Given the description of an element on the screen output the (x, y) to click on. 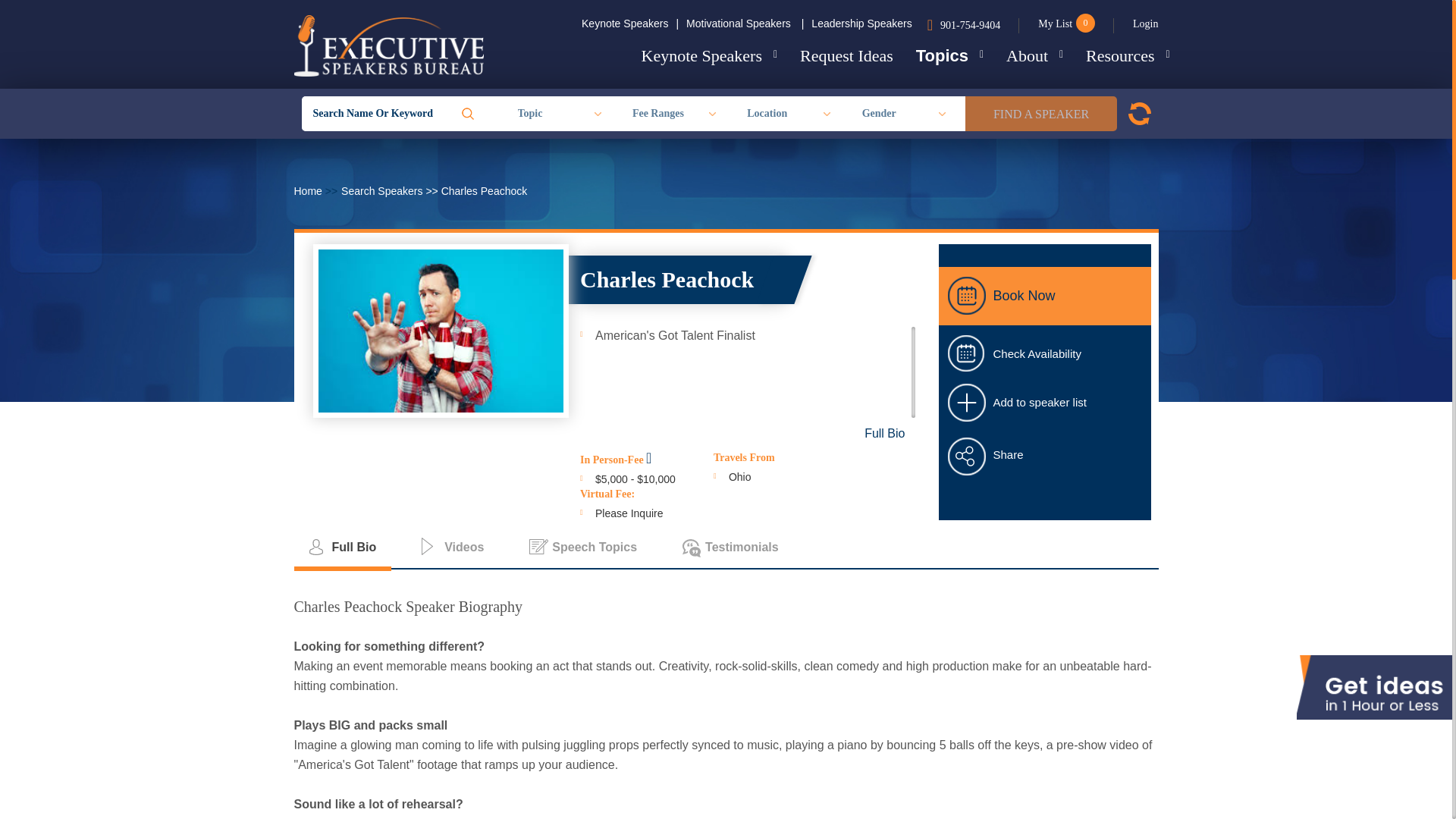
Keynote Speakers (709, 56)
Leadership Speakers (860, 23)
Click here to request ideas  (846, 56)
Login (1135, 23)
My List0 (1056, 24)
Review trending speech topics (949, 55)
Click here to get keynote speakers page (709, 56)
Find a Speaker (1040, 113)
Request Ideas (846, 56)
901-754-9404 (973, 24)
